Given the description of an element on the screen output the (x, y) to click on. 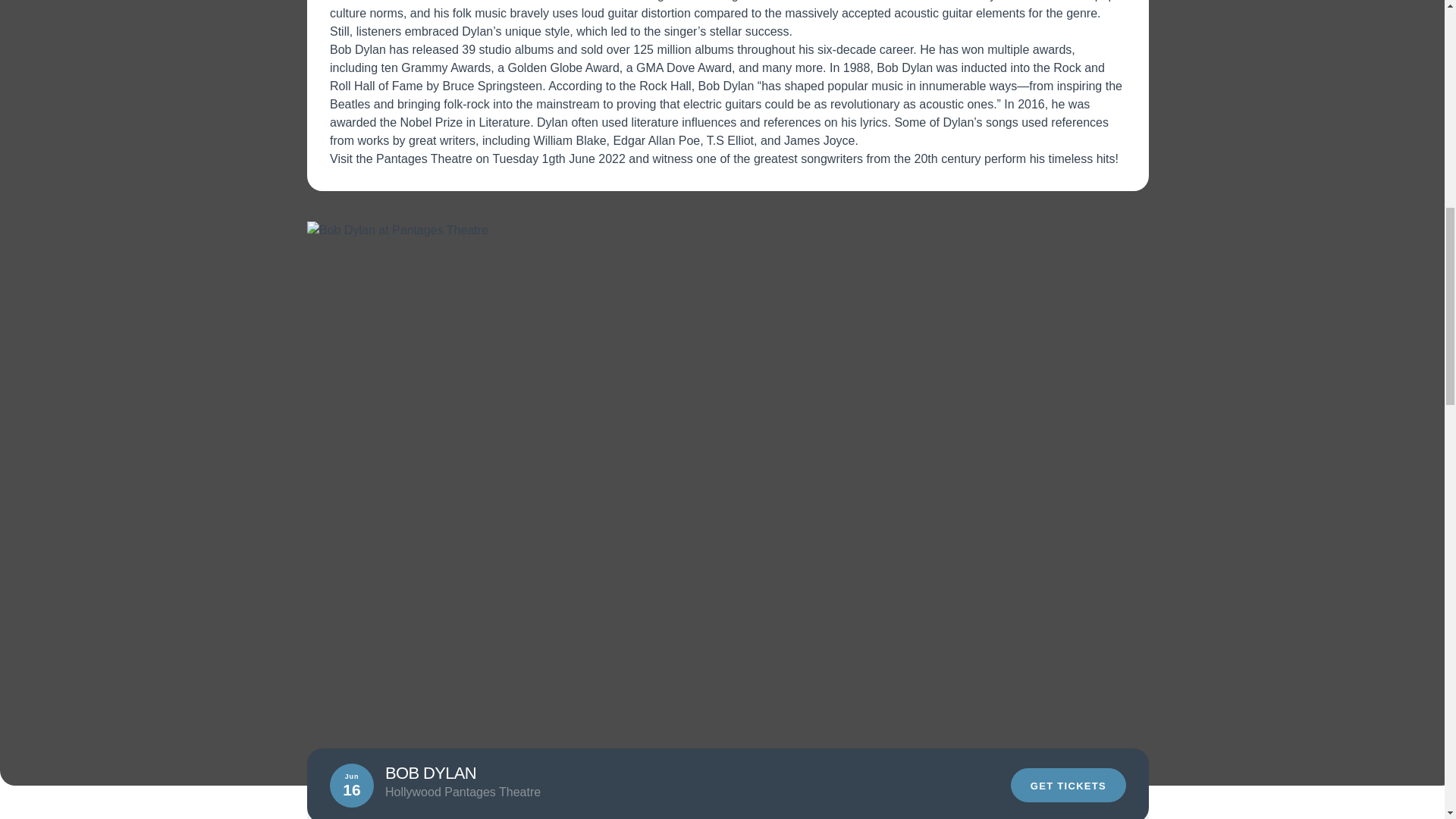
GET TICKETS (1067, 785)
INFO (992, 808)
TICKETS (1080, 808)
Bob Dylan at Pantages Theatre tickets (727, 230)
